Given the description of an element on the screen output the (x, y) to click on. 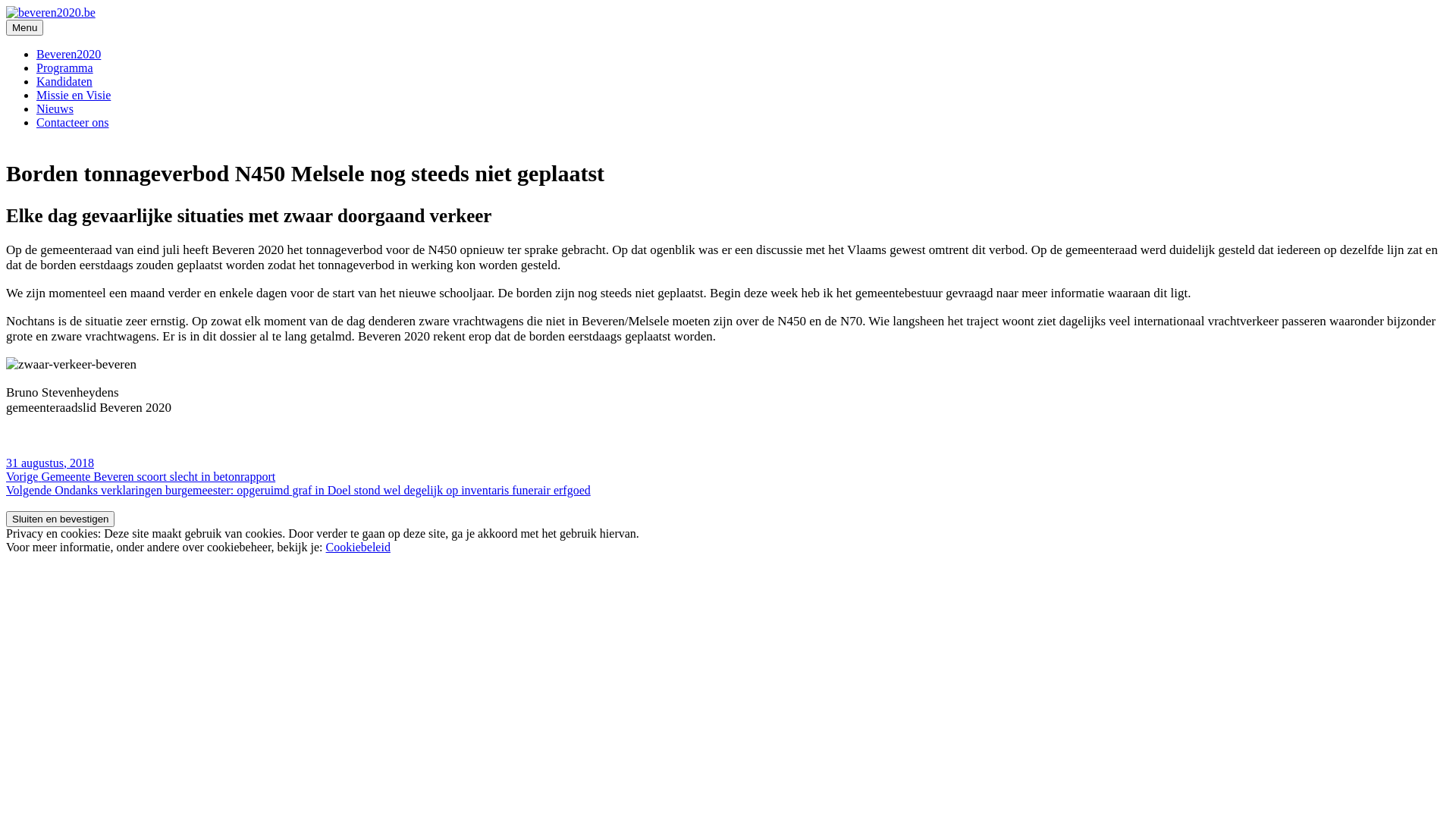
Menu Element type: text (24, 27)
Contacteer ons Element type: text (72, 122)
Meteen naar de inhoud Element type: text (5, 5)
Uncategorized Element type: text (41, 166)
31 augustus, 2018 Element type: text (50, 462)
Cookiebeleid Element type: text (358, 546)
Programma Element type: text (64, 67)
beveren2020.be Element type: text (44, 37)
Nieuws Element type: text (54, 108)
Sluiten en bevestigen Element type: text (60, 519)
Beveren2020 Element type: text (68, 53)
Missie en Visie Element type: text (73, 94)
Kandidaten Element type: text (64, 81)
persberichten Element type: text (126, 462)
